Given the description of an element on the screen output the (x, y) to click on. 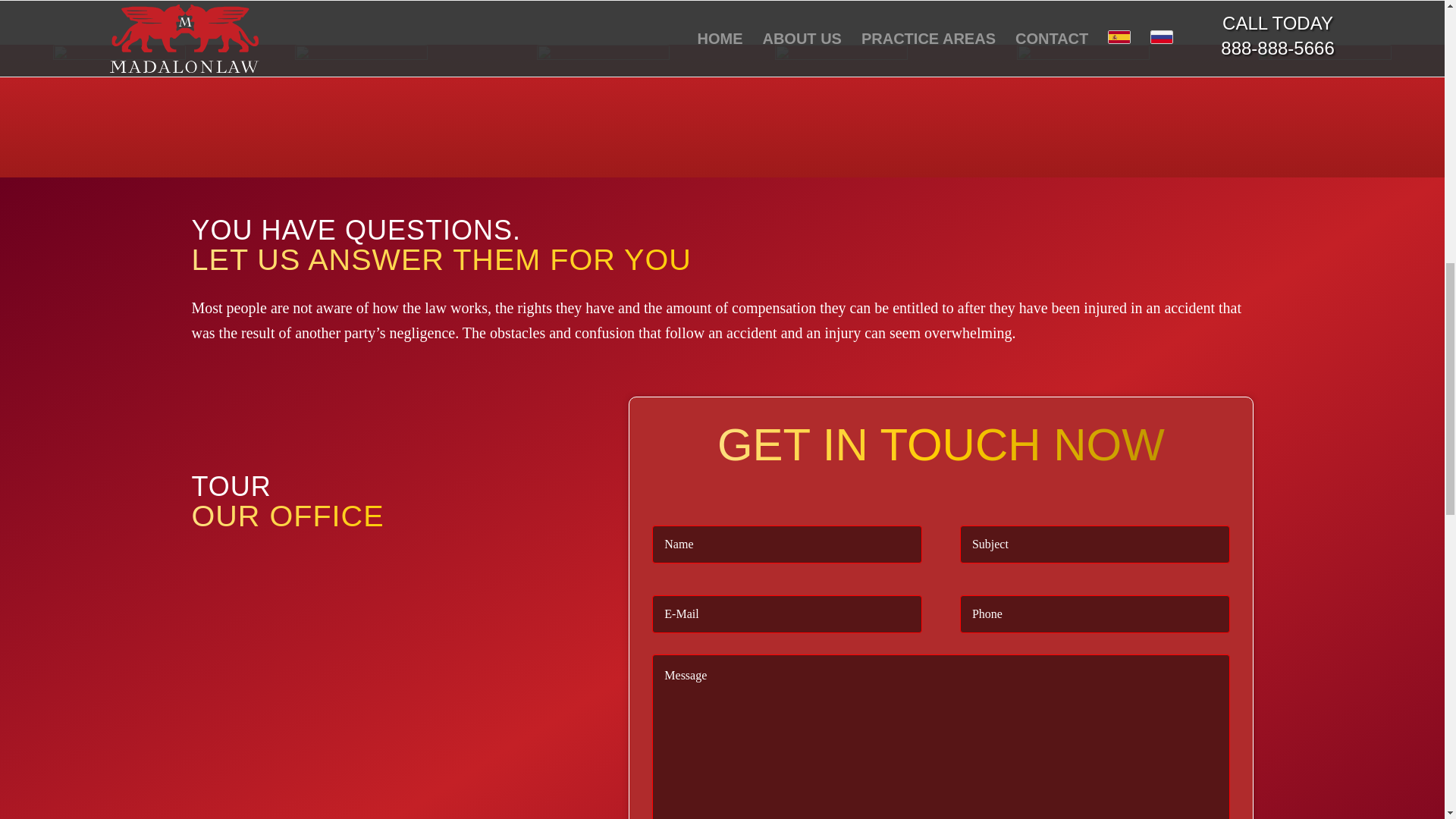
top-attorneys (840, 111)
multimilliondollar (119, 111)
Madalon Law Office (393, 683)
legal-elite-100 (1083, 111)
nadc (1325, 111)
super-lawyers (603, 111)
aaj (361, 111)
